Given the description of an element on the screen output the (x, y) to click on. 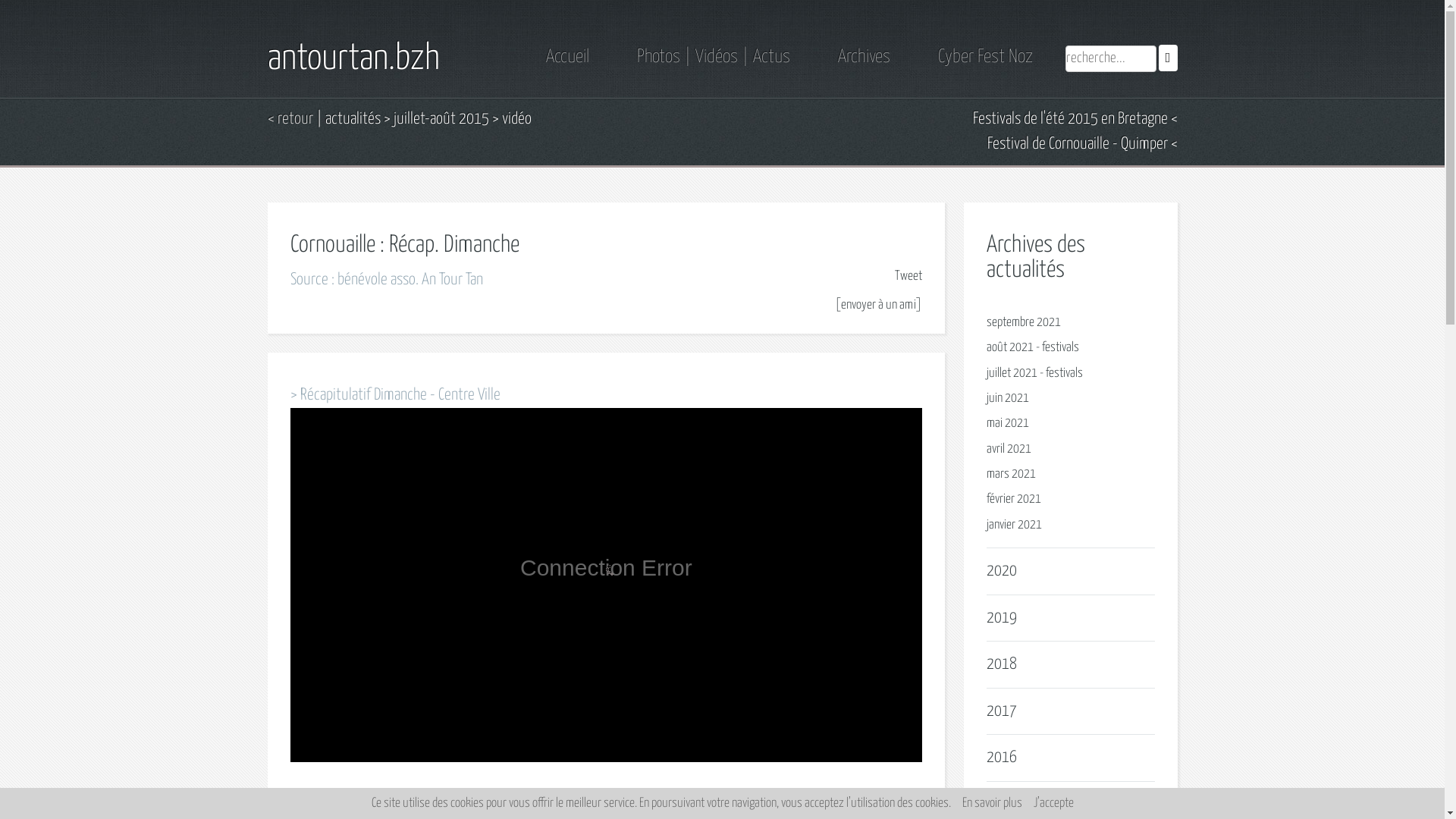
Festival de Cornouaille - Quimper Element type: text (1082, 156)
janvier 2021 Element type: text (1013, 524)
Tweet Element type: text (908, 275)
< retour Element type: text (289, 118)
mars 2021 Element type: text (1010, 473)
En savoir plus Element type: text (991, 803)
mai 2021 Element type: text (1007, 423)
2018 Element type: text (1001, 663)
septembre 2021 Element type: text (1023, 322)
festivals Element type: text (1063, 373)
2019 Element type: text (1001, 617)
avril 2021 Element type: text (1008, 448)
2015 Element type: text (1001, 803)
juin 2021 Element type: text (1007, 398)
2017 Element type: text (1001, 710)
Accueil Element type: text (567, 56)
antourtan.bzh Element type: text (352, 58)
2020 Element type: text (1001, 570)
Cyber Fest Noz Element type: text (984, 56)
Archives Element type: text (863, 56)
2016 Element type: text (1001, 757)
festivals Element type: text (1060, 347)
juillet 2021 Element type: text (1011, 373)
